Given the description of an element on the screen output the (x, y) to click on. 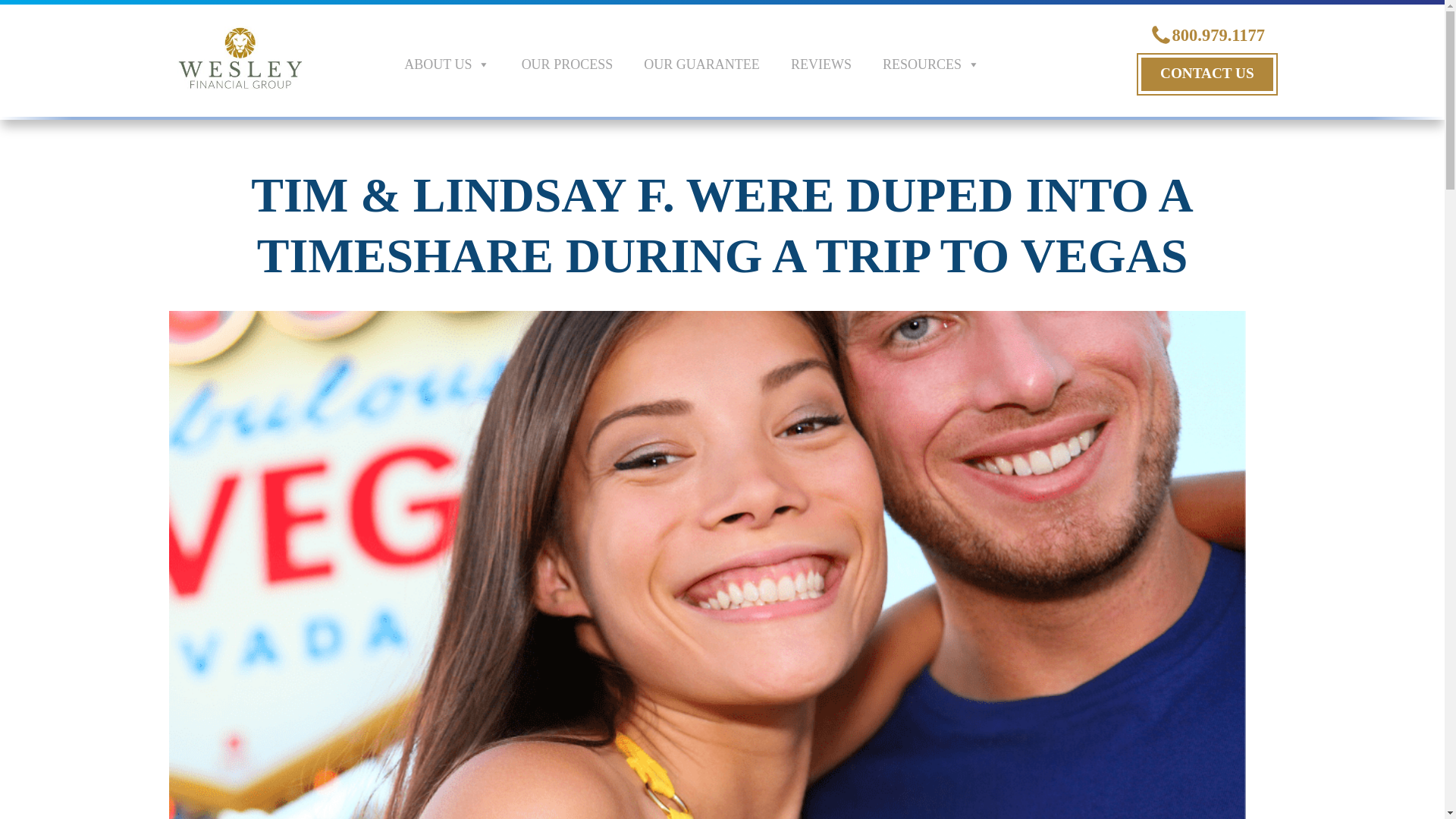
800.979.1177 (1207, 35)
RESOURCES (939, 64)
OUR PROCESS (575, 64)
REVIEWS (829, 64)
ABOUT US (454, 64)
CONTACT US (1206, 74)
OUR GUARANTEE (709, 64)
